Given the description of an element on the screen output the (x, y) to click on. 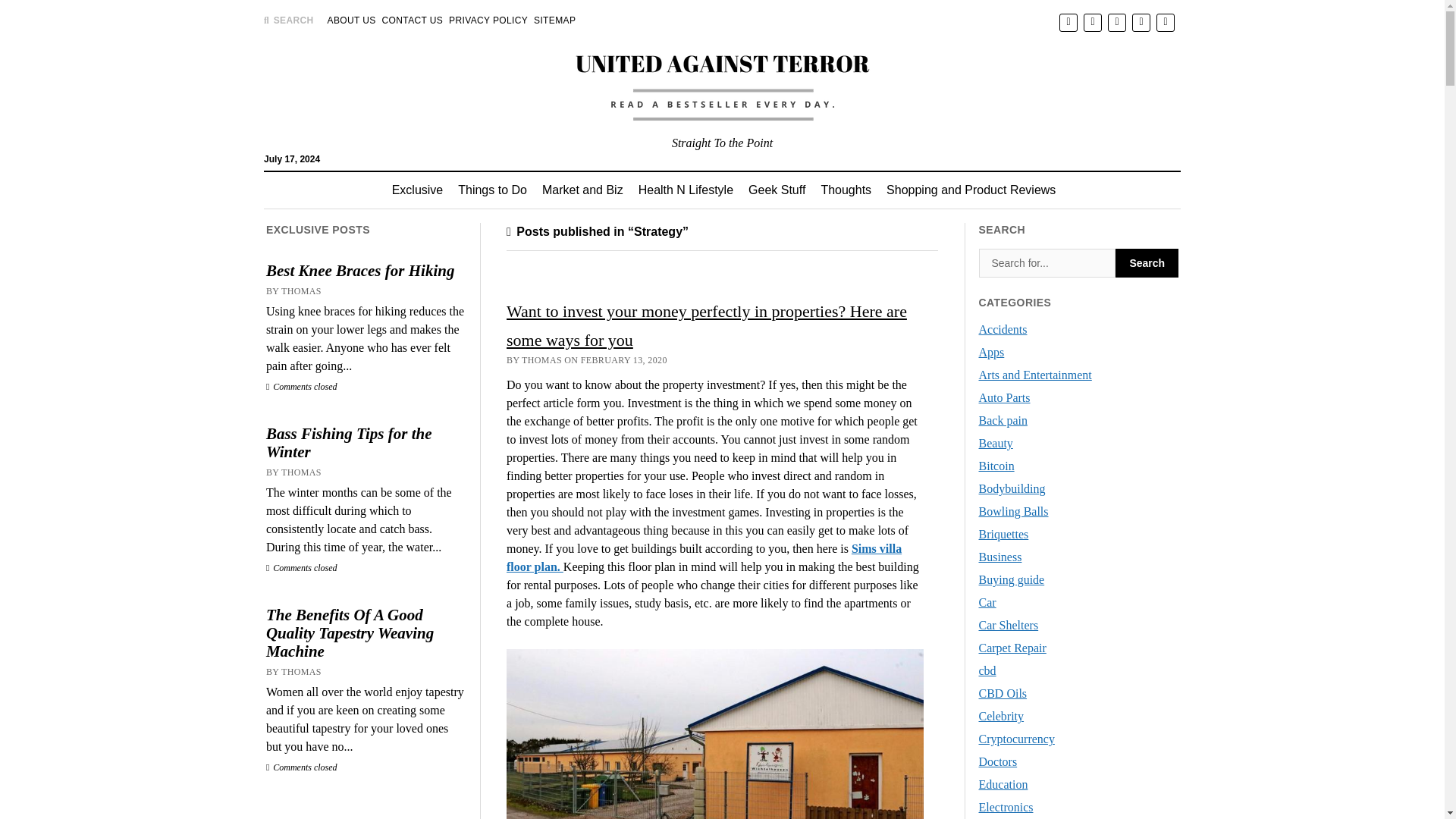
Comments closed (301, 567)
Exclusive (417, 189)
Apps (991, 351)
Comments closed (301, 386)
Search (1047, 262)
Comments closed (301, 767)
ABOUT US (351, 20)
SEARCH (288, 20)
Arts and Entertainment (1035, 374)
Things to Do (491, 189)
Geek Stuff (776, 189)
Accidents (1002, 328)
CONTACT US (412, 20)
Health N Lifestyle (685, 189)
